Given the description of an element on the screen output the (x, y) to click on. 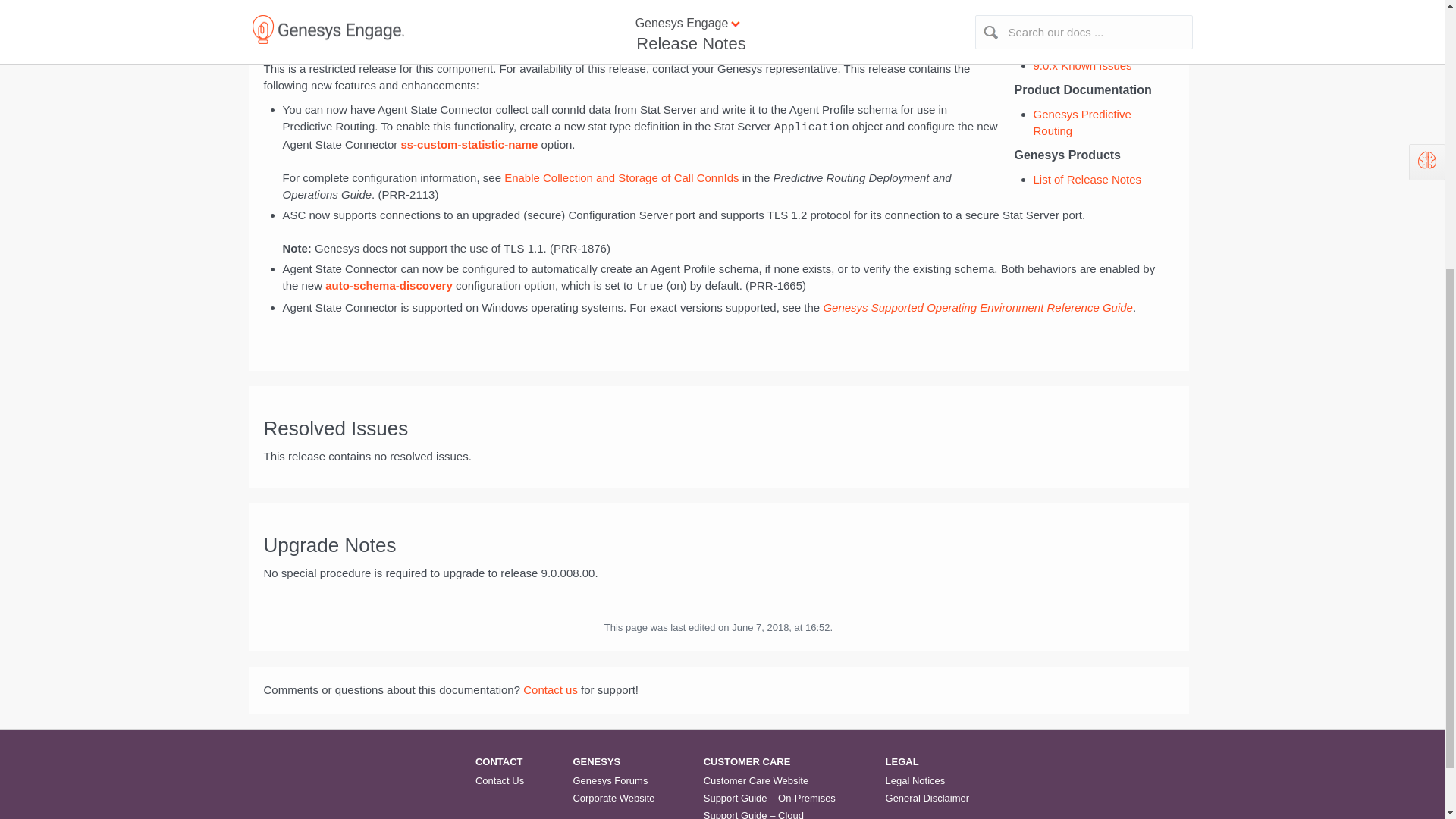
Documentation:RN:gpm-asc90rn:gpm-asc90KI:9.0.x (1081, 65)
Documentation:RN:gpm-asc90rn:gpm-asc90rn:9.0.x (718, 428)
